Given the description of an element on the screen output the (x, y) to click on. 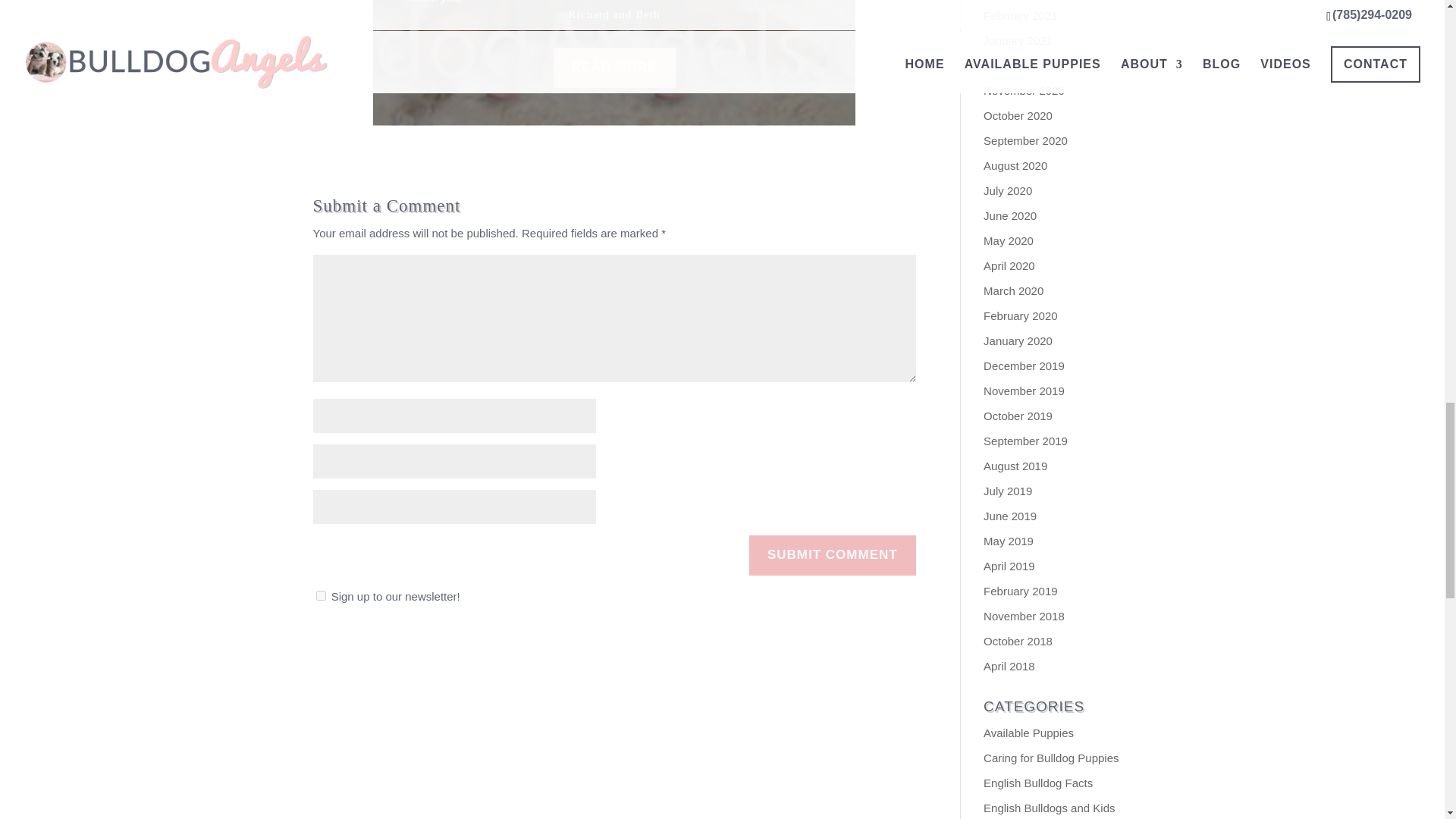
1 (319, 595)
Submit Comment (832, 555)
